Given the description of an element on the screen output the (x, y) to click on. 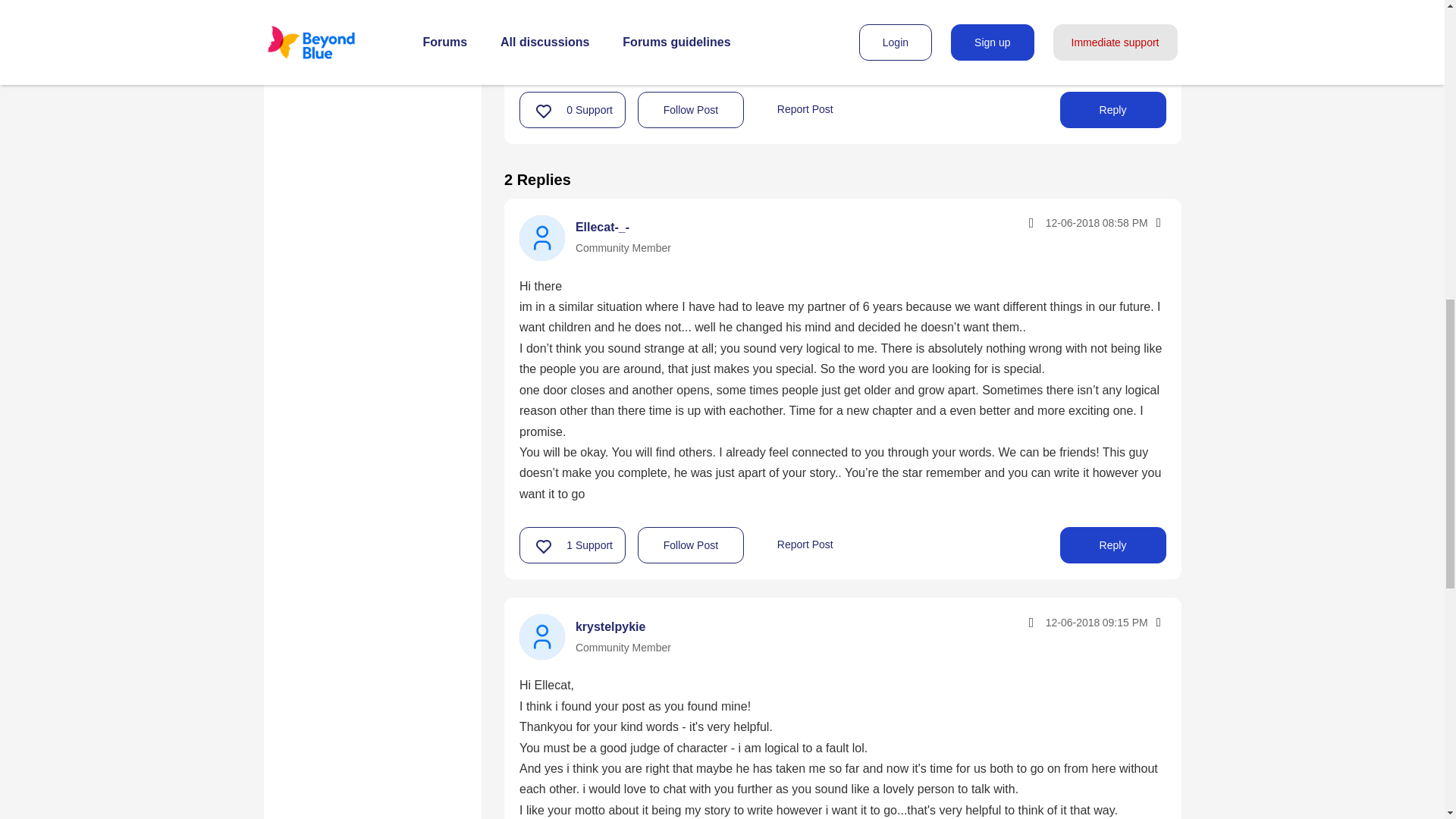
Show option menu (1157, 622)
People like me (331, 49)
Click here to give support to this post. (543, 110)
Posted on (1063, 222)
Click here to give support to this post. (543, 546)
Show option menu (1157, 222)
krystelpykie (541, 637)
Caring for myself and others (372, 12)
Posted on (1063, 621)
